Given the description of an element on the screen output the (x, y) to click on. 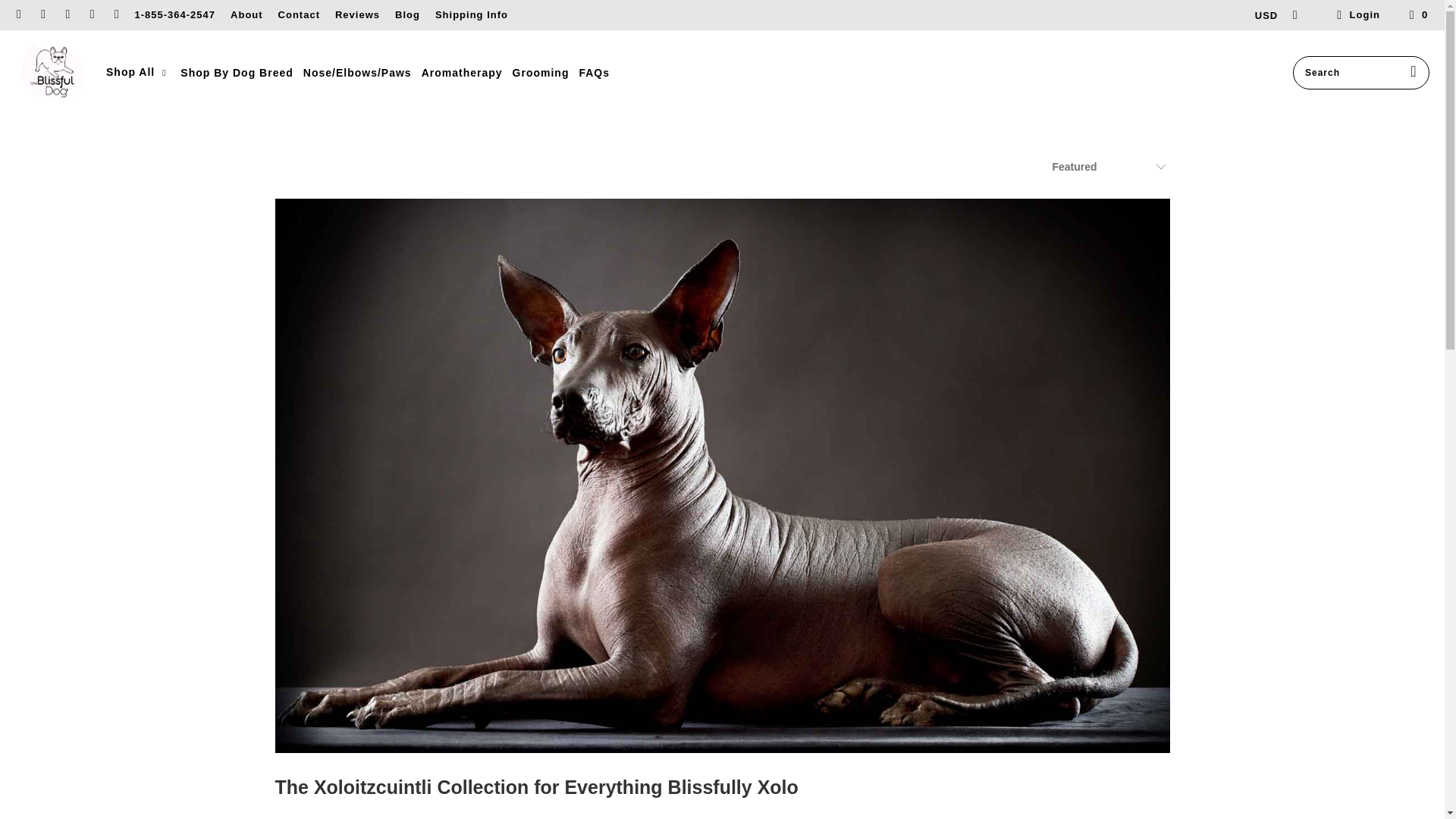
The Blissful Dog on Facebook (41, 14)
The Blissful Dog on Pinterest (91, 14)
My Account  (1356, 14)
The Blissful Dog (52, 72)
The Blissful Dog on YouTube (115, 14)
Email The Blissful Dog (17, 14)
About (246, 14)
Contact (299, 14)
Reviews (357, 14)
The Blissful Dog on Instagram (67, 14)
1-855-364-2547 (175, 14)
